Given the description of an element on the screen output the (x, y) to click on. 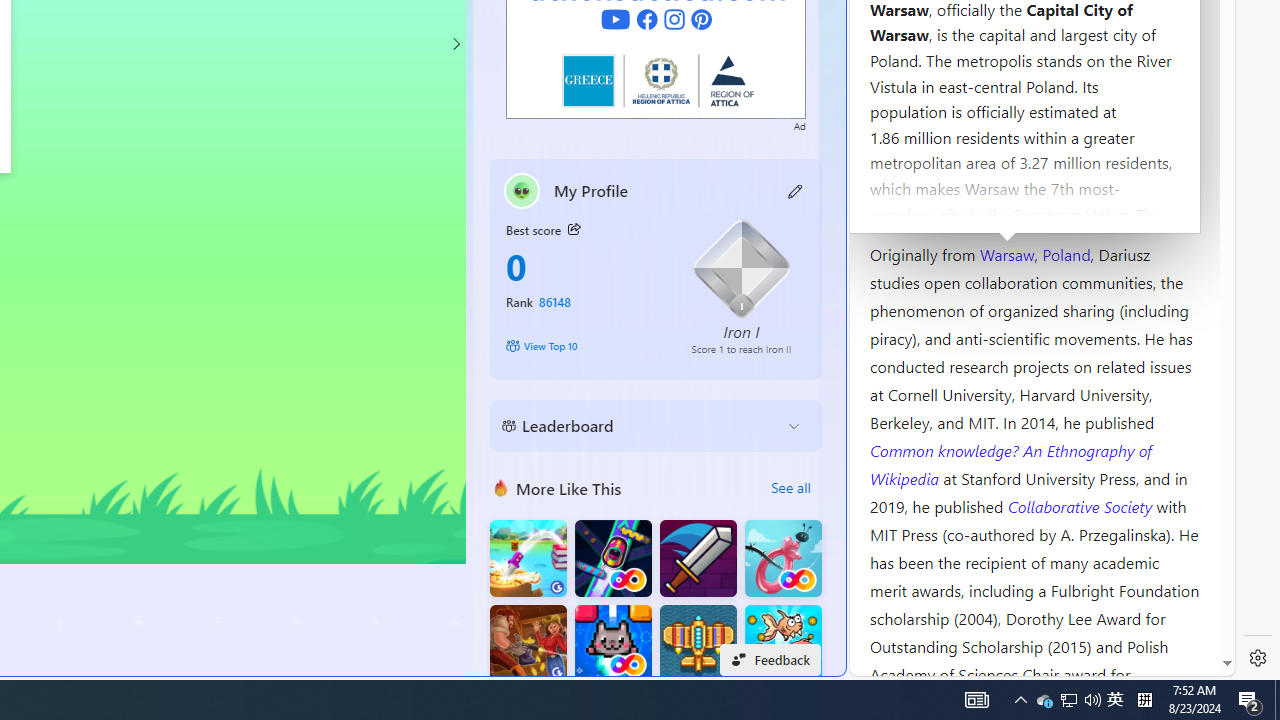
Actions for this site (1129, 306)
More Like This (501, 487)
Harvard University (934, 205)
google_privacy_policy_zh-CN.pdf (687, 482)
Warsaw (1006, 253)
Kozminski University (1034, 136)
Kitten Force FRVR (612, 643)
Common knowledge? An Ethnography of Wikipedia (1010, 463)
Balloon FRVR (783, 558)
Class: control (455, 43)
